Given the description of an element on the screen output the (x, y) to click on. 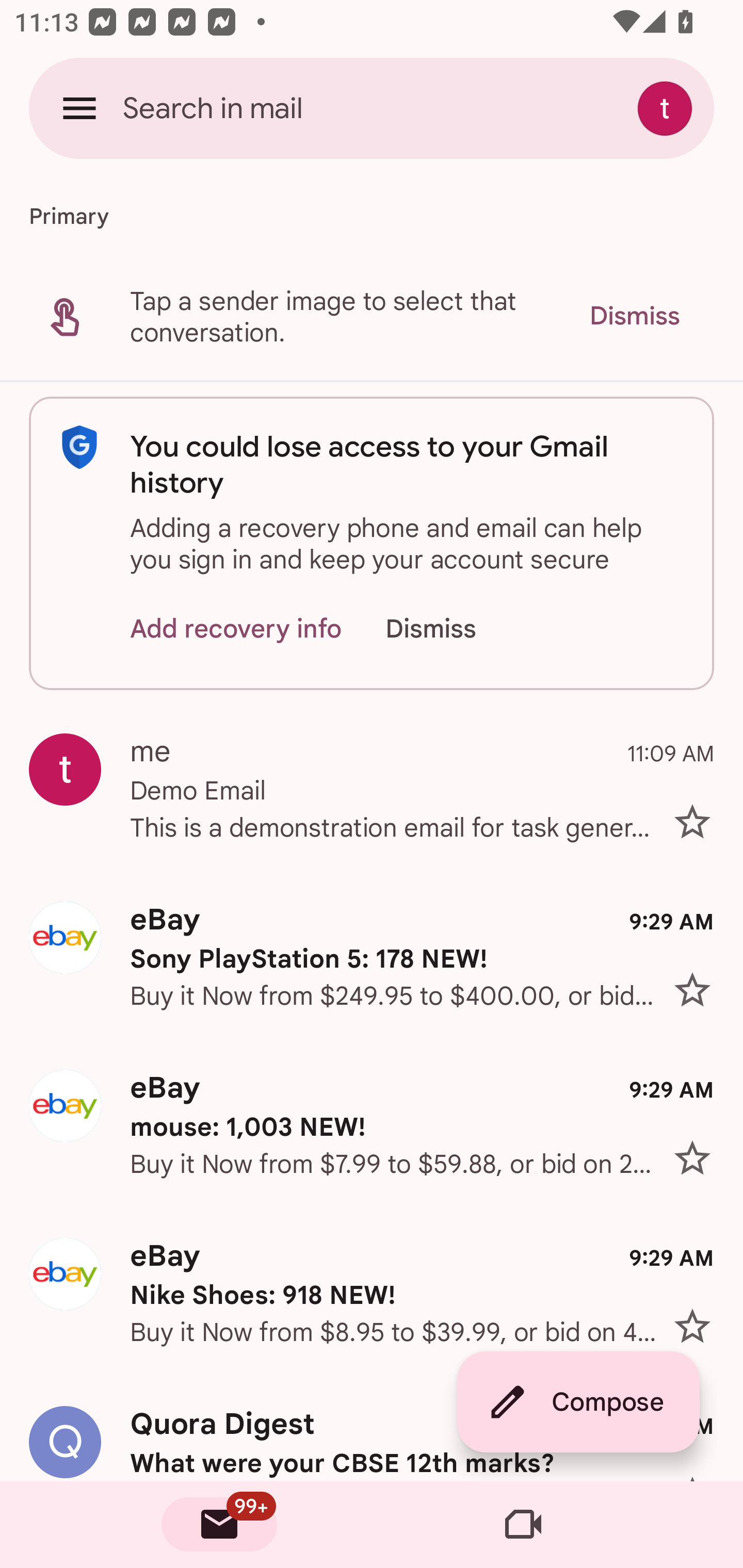
Open navigation drawer (79, 108)
Dismiss Dismiss tip (634, 315)
Add recovery info (235, 628)
Dismiss (449, 628)
Compose (577, 1401)
Meet (523, 1524)
